Given the description of an element on the screen output the (x, y) to click on. 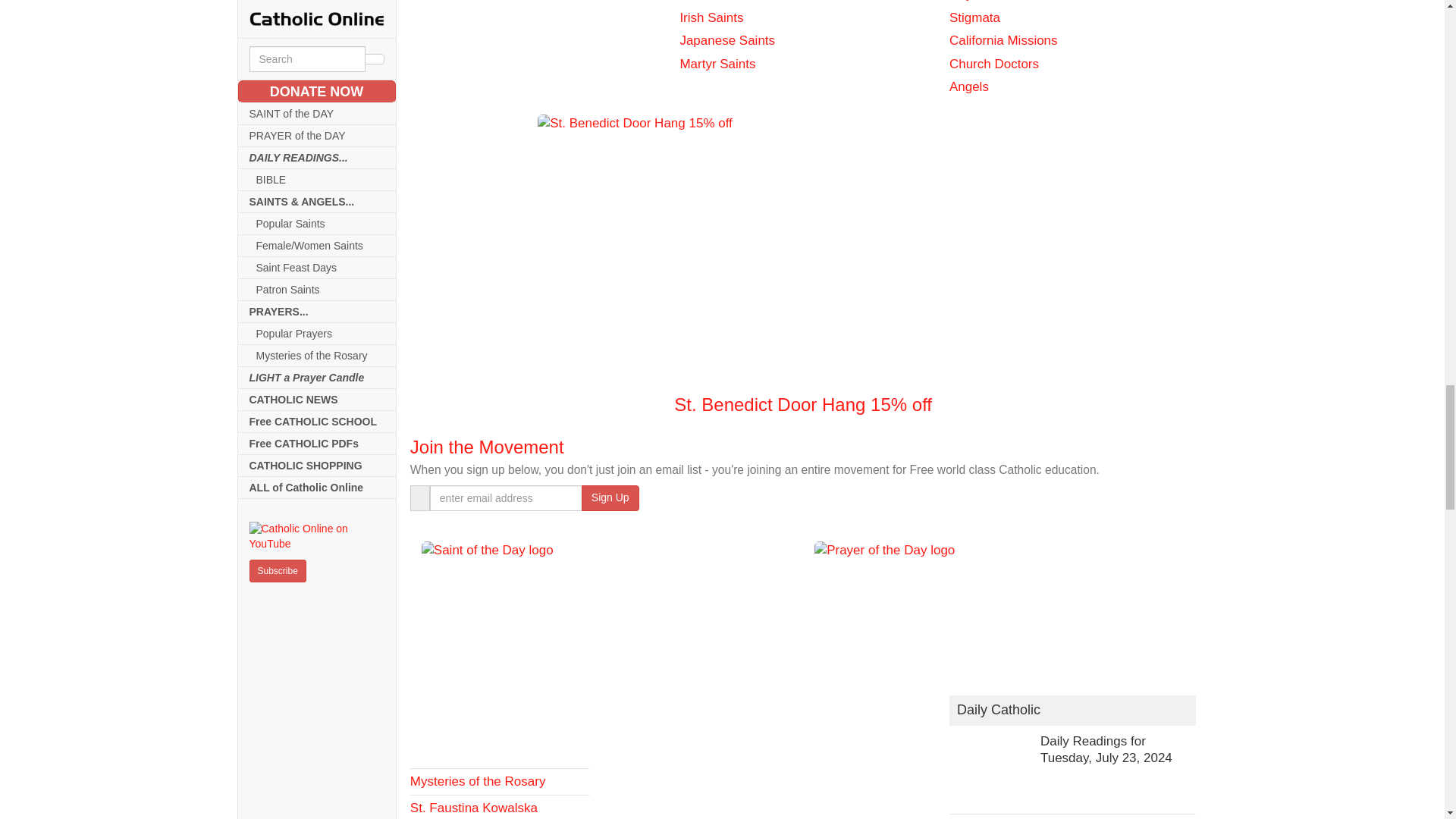
Sign Up (609, 498)
